Given the description of an element on the screen output the (x, y) to click on. 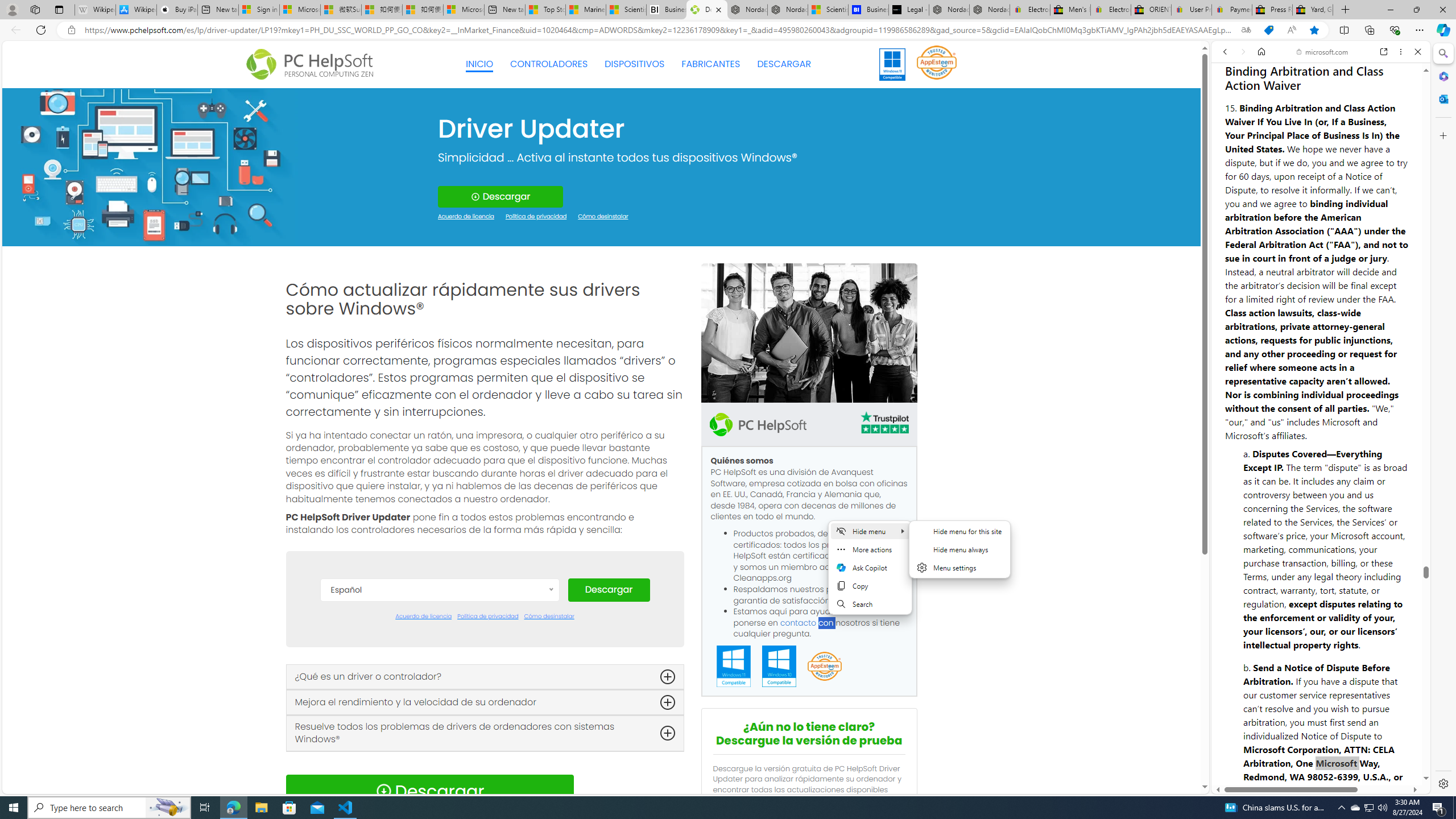
Electronics, Cars, Fashion, Collectibles & More | eBay (1110, 9)
Windows 11 (892, 64)
FABRICANTES (711, 64)
More options (1401, 51)
Side bar (1443, 418)
TrustPilot (884, 424)
Yard, Garden & Outdoor Living (1312, 9)
